Given the description of an element on the screen output the (x, y) to click on. 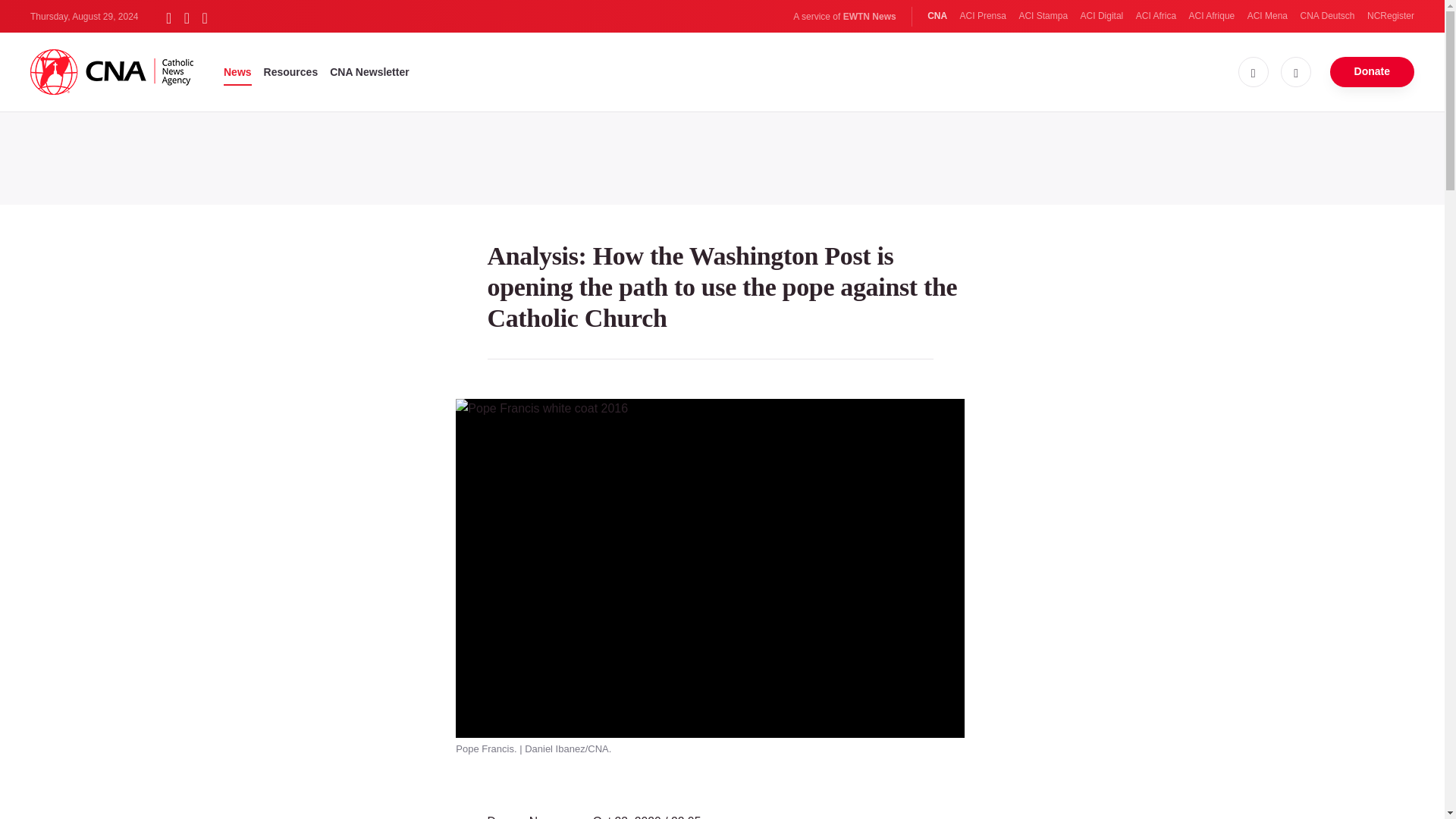
ACI Afrique (1211, 16)
CNA Deutsch (1327, 16)
ACI Stampa (1042, 16)
Resources (290, 71)
NCRegister (1390, 16)
News (237, 71)
ACI Prensa (982, 16)
ACI Digital (1102, 16)
EWTN News (869, 16)
CNA (937, 16)
